Given the description of an element on the screen output the (x, y) to click on. 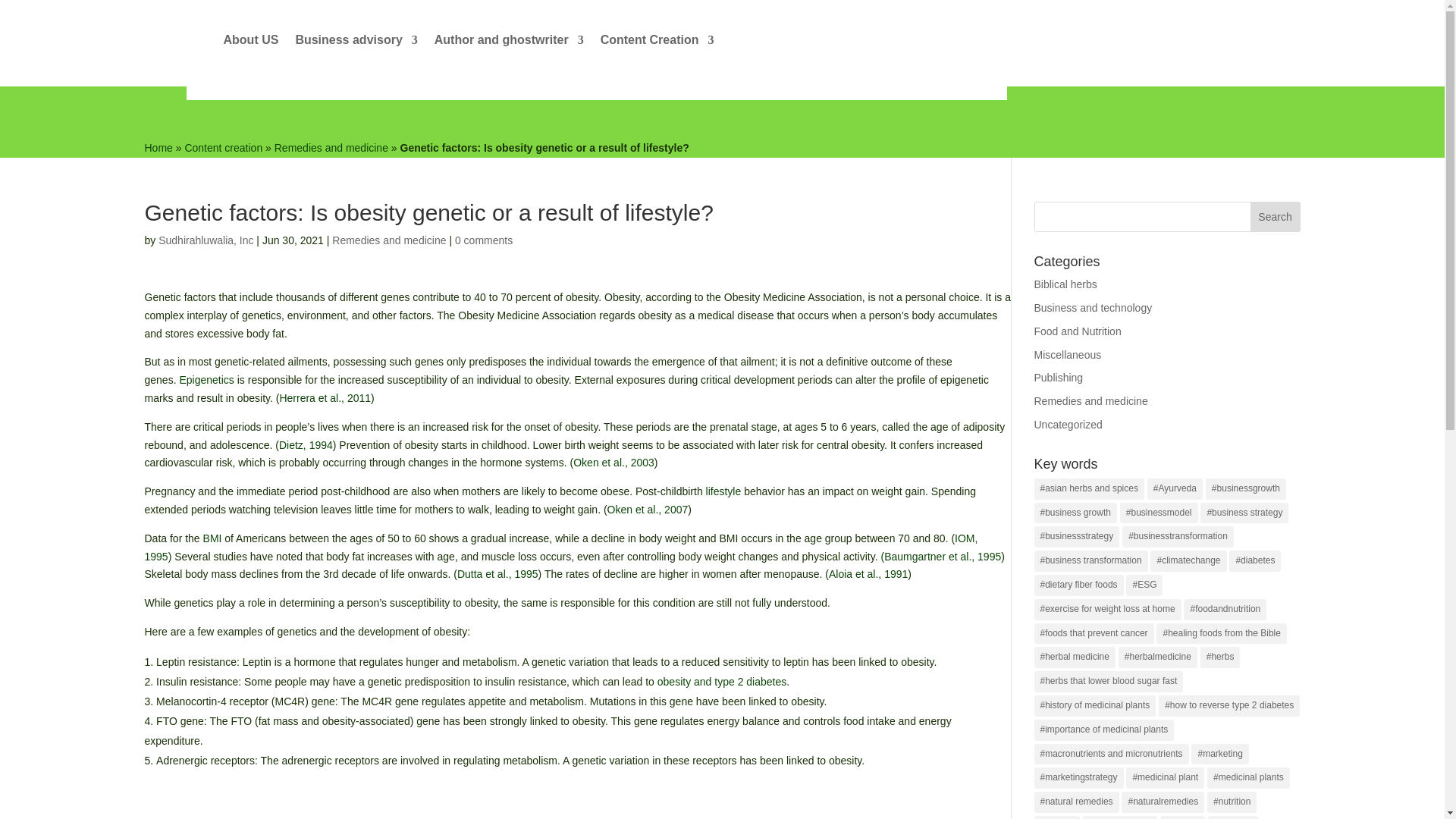
Posts by Sudhirahluwalia, Inc (205, 240)
Remedies and medicine (388, 240)
Home (157, 147)
Business advisory (355, 43)
IOM, 1995 (560, 547)
Oken et al., 2003 (613, 462)
About US (250, 43)
0 comments (483, 240)
Remedies and medicine (331, 147)
Herrera et al., 2011 (325, 398)
Author and ghostwriter (508, 43)
Oken et al., 2007 (647, 509)
obesity and type 2 diabetes (722, 681)
Dutta et al., 1995 (497, 573)
Content Creation (656, 43)
